Given the description of an element on the screen output the (x, y) to click on. 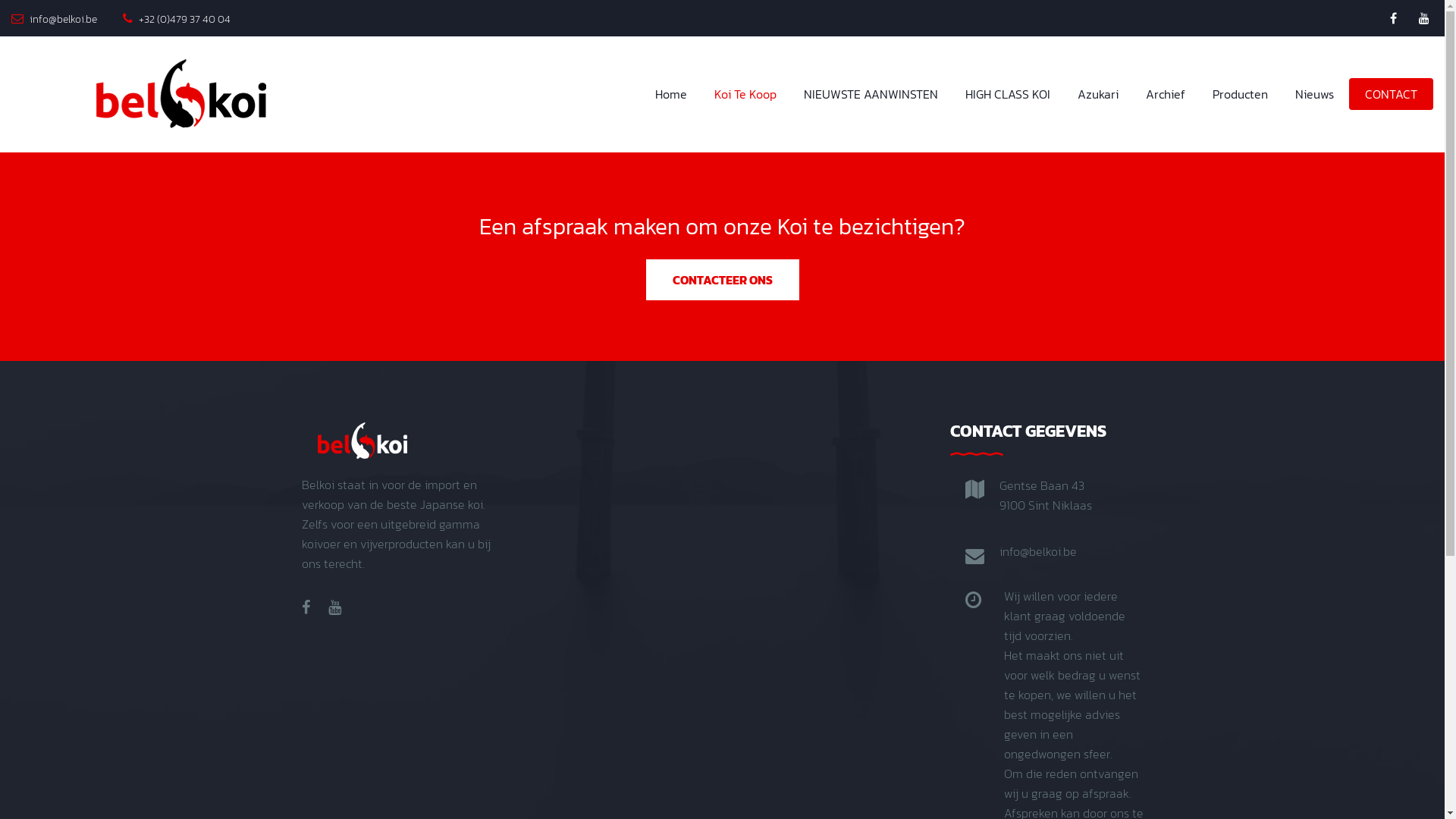
Producten Element type: text (1240, 93)
Azukari Element type: text (1097, 93)
CONTACT Element type: text (1391, 93)
Archief Element type: text (1165, 93)
Koi Te Koop Element type: text (745, 93)
HIGH CLASS KOI Element type: text (1007, 93)
Home Element type: text (671, 93)
Nieuws Element type: text (1314, 93)
NIEUWSTE AANWINSTEN Element type: text (870, 93)
CONTACTEER ONS Element type: text (722, 279)
